Given the description of an element on the screen output the (x, y) to click on. 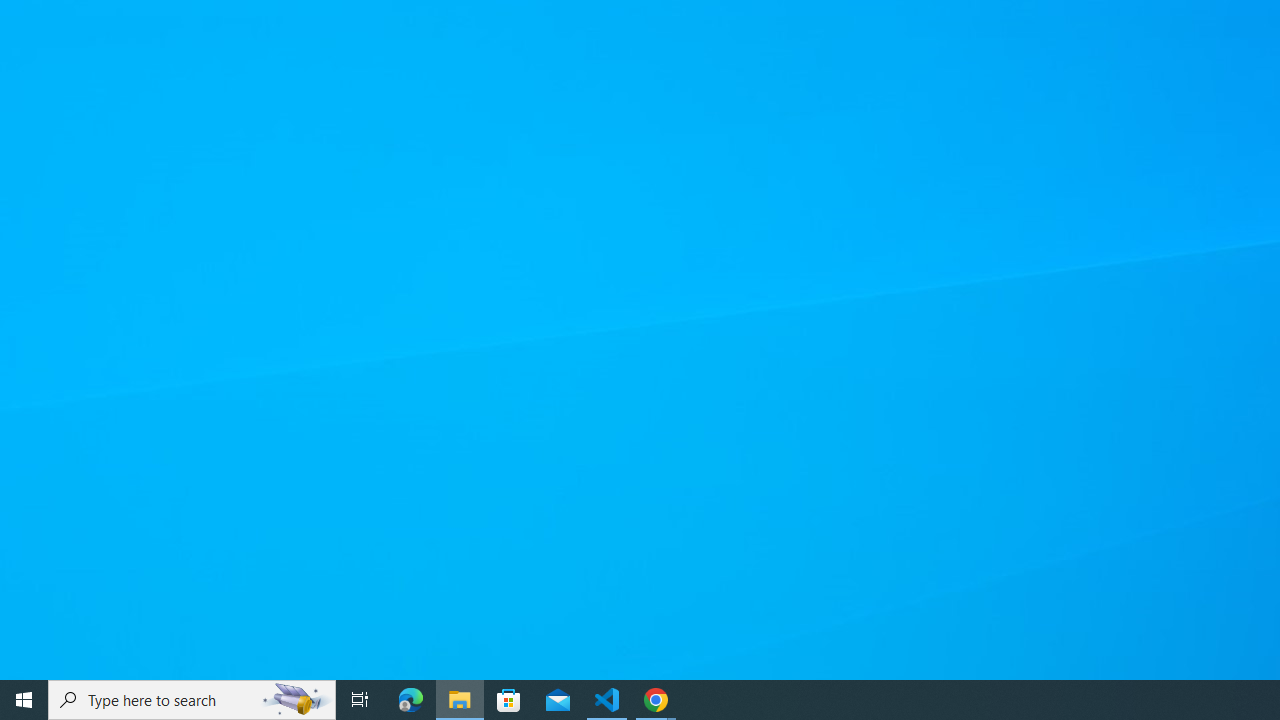
Microsoft Store (509, 699)
Search highlights icon opens search home window (295, 699)
Google Chrome - 3 running windows (656, 699)
File Explorer - 1 running window (460, 699)
Visual Studio Code - 1 running window (607, 699)
Task View (359, 699)
Type here to search (191, 699)
Start (24, 699)
Microsoft Edge (411, 699)
